Given the description of an element on the screen output the (x, y) to click on. 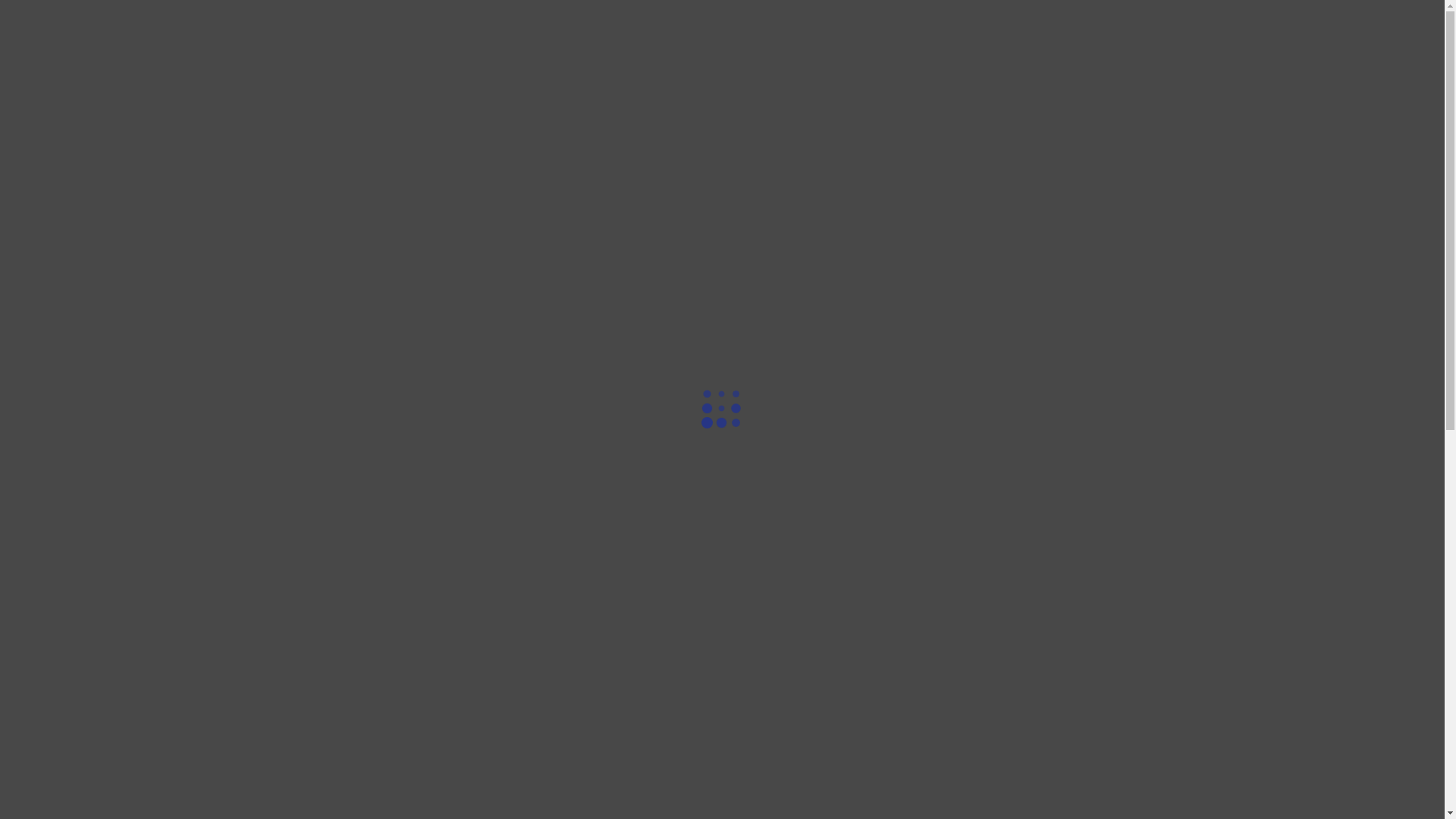
ABOUT Element type: text (809, 55)
COVERAGE Element type: text (961, 55)
Skip to content Element type: text (0, 0)
NEWS Element type: text (1032, 55)
SERVICES Element type: text (879, 55)
CONTACTS Element type: text (1101, 55)
HOME Element type: text (749, 55)
